Given the description of an element on the screen output the (x, y) to click on. 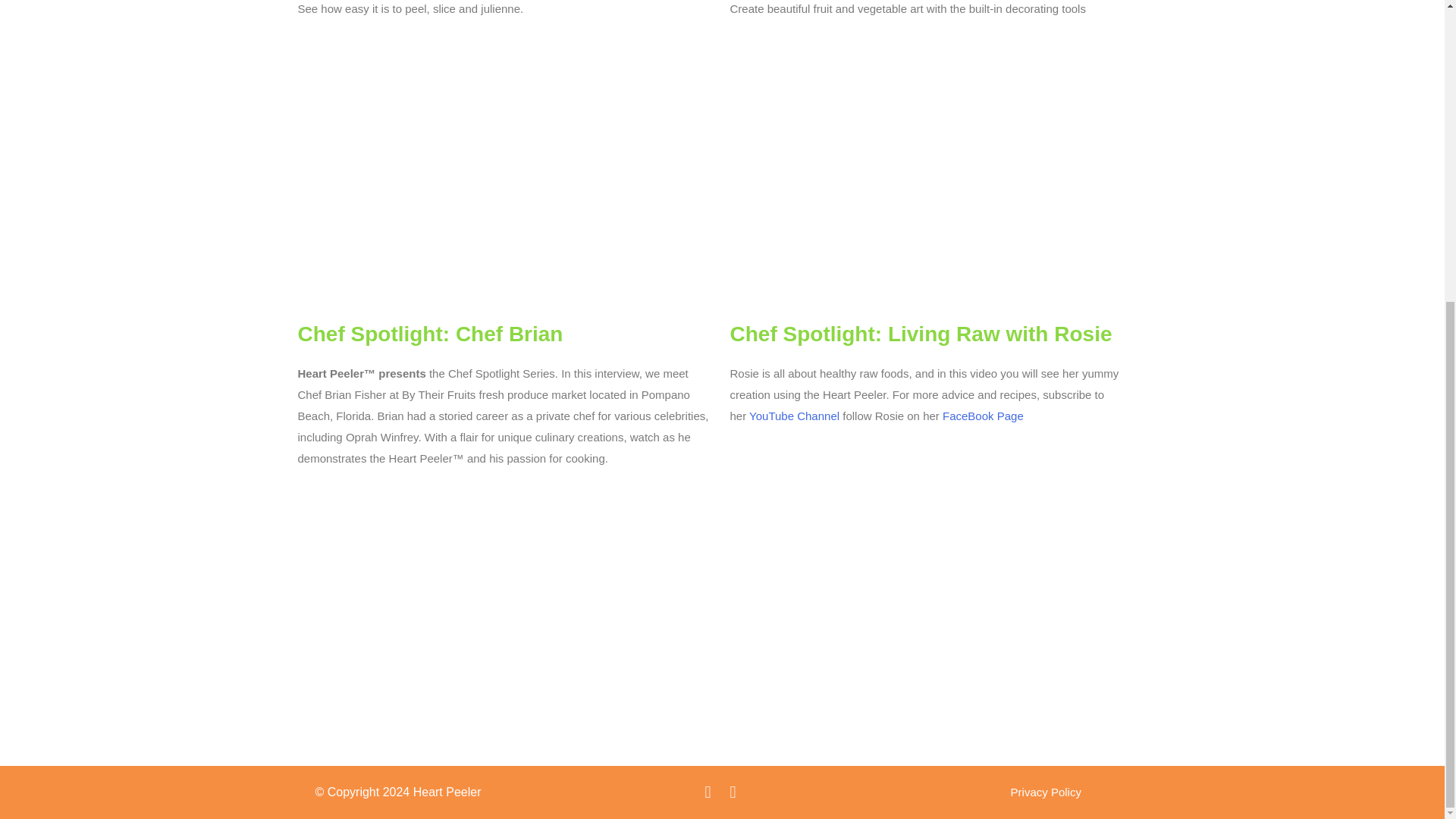
FaceBook Page (982, 415)
YouTube Channel (794, 415)
Privacy Policy (1045, 791)
